Given the description of an element on the screen output the (x, y) to click on. 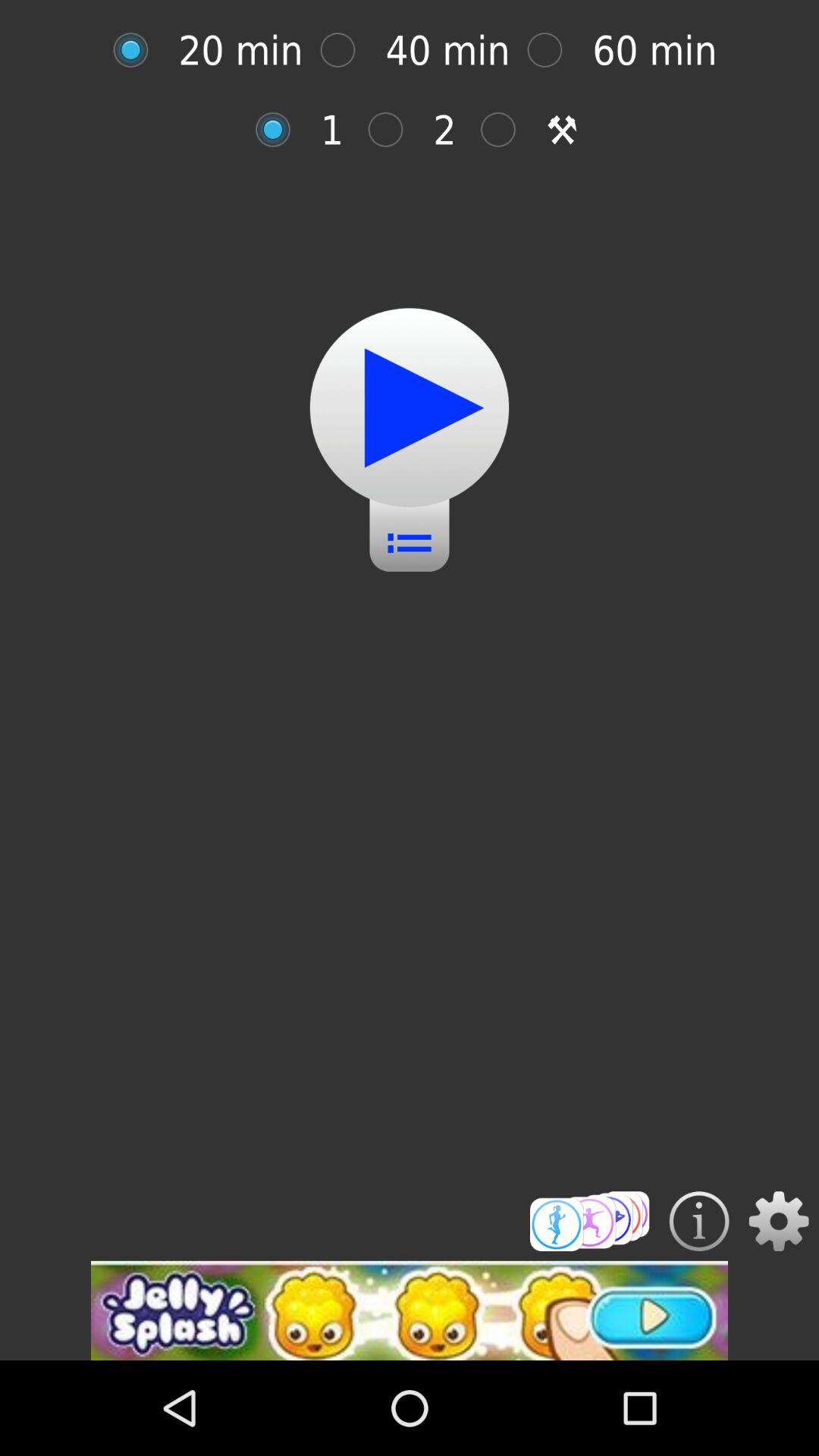
play next (506, 129)
